Given the description of an element on the screen output the (x, y) to click on. 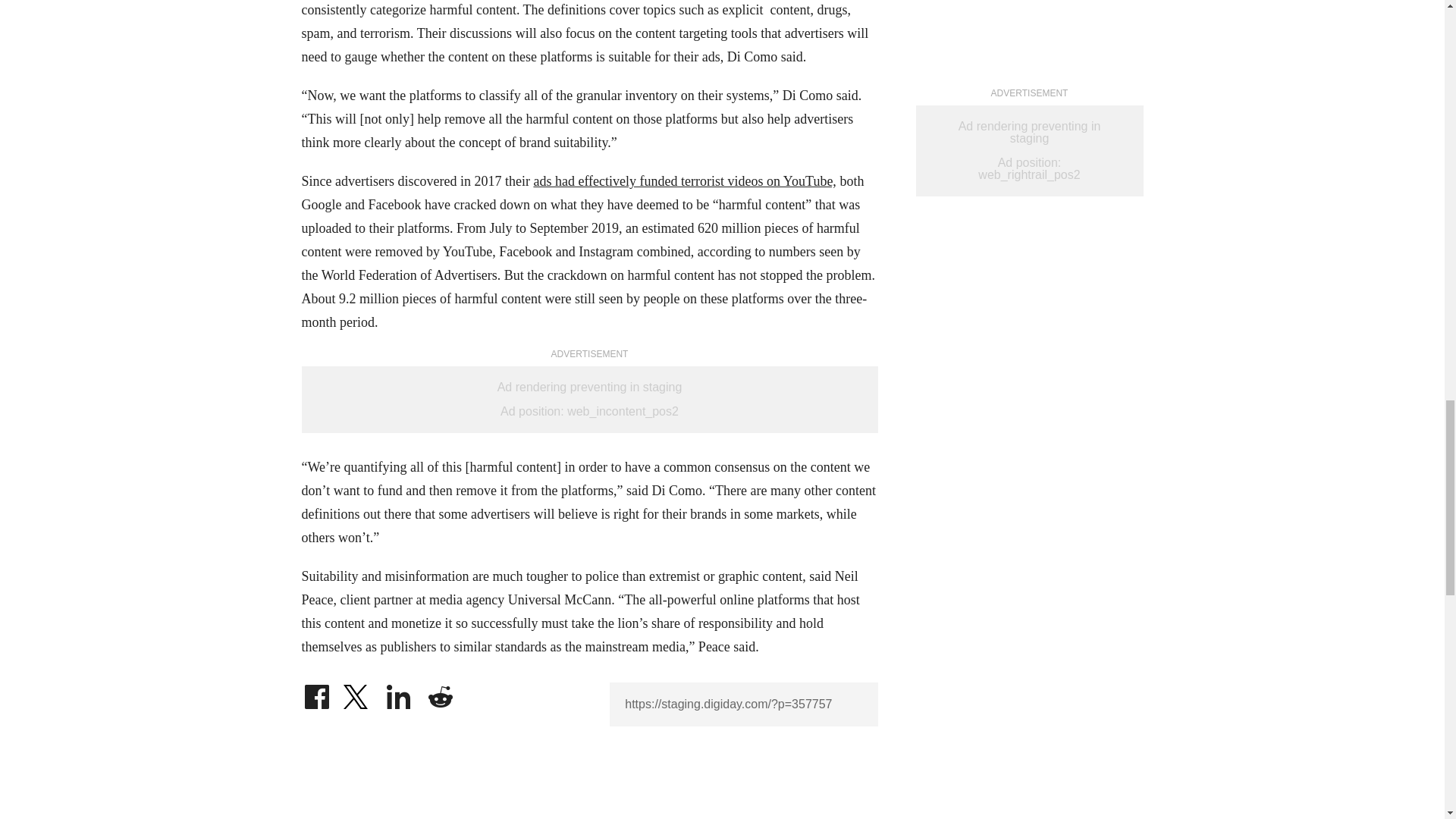
Share on Facebook (316, 693)
Share on LinkedIn (398, 693)
Share on Reddit (440, 693)
Share on Twitter (357, 693)
